Given the description of an element on the screen output the (x, y) to click on. 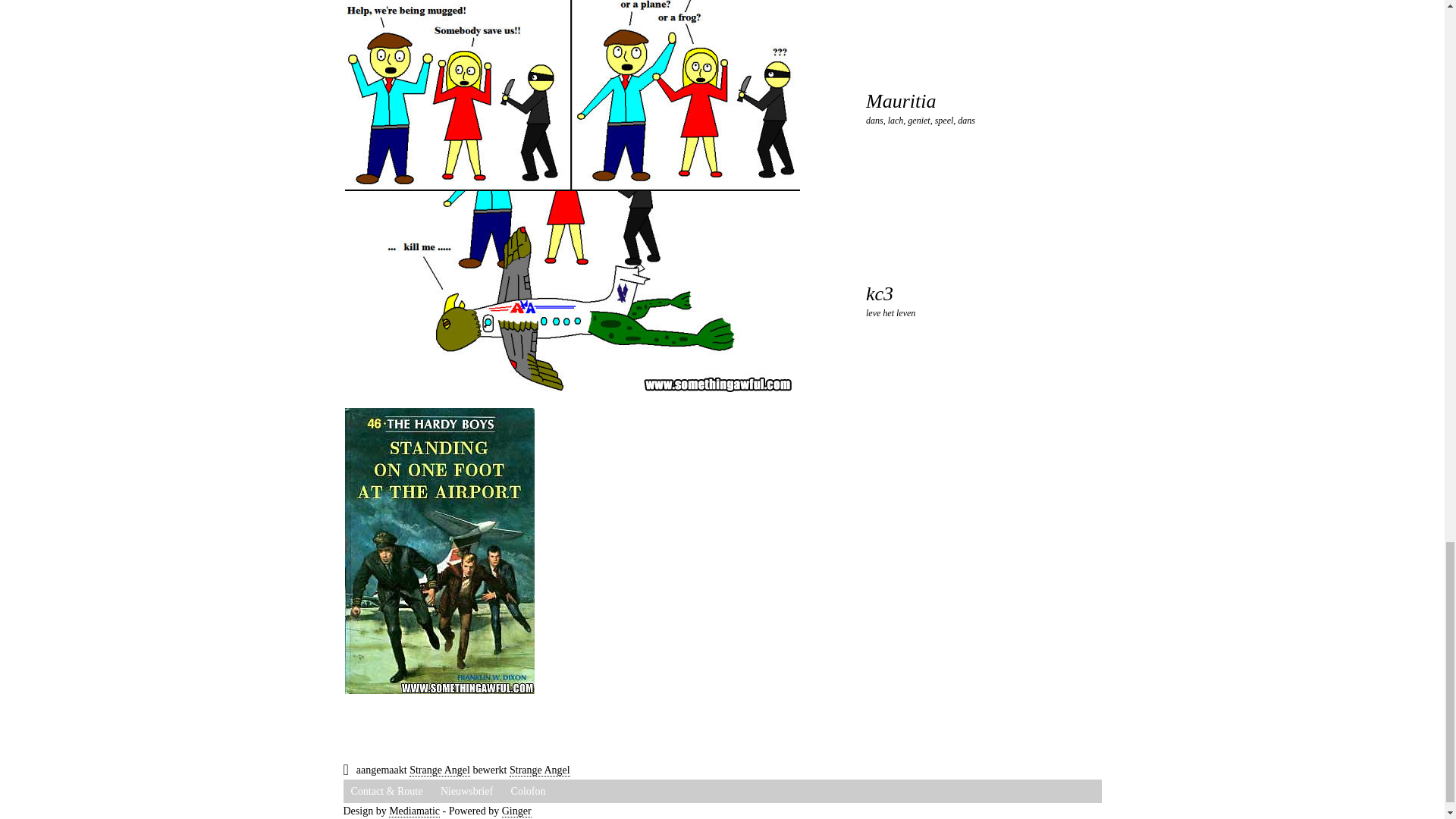
28 januari 2010 - 18:27 (439, 770)
28 januari 2010 - 19:18 (539, 770)
